Given the description of an element on the screen output the (x, y) to click on. 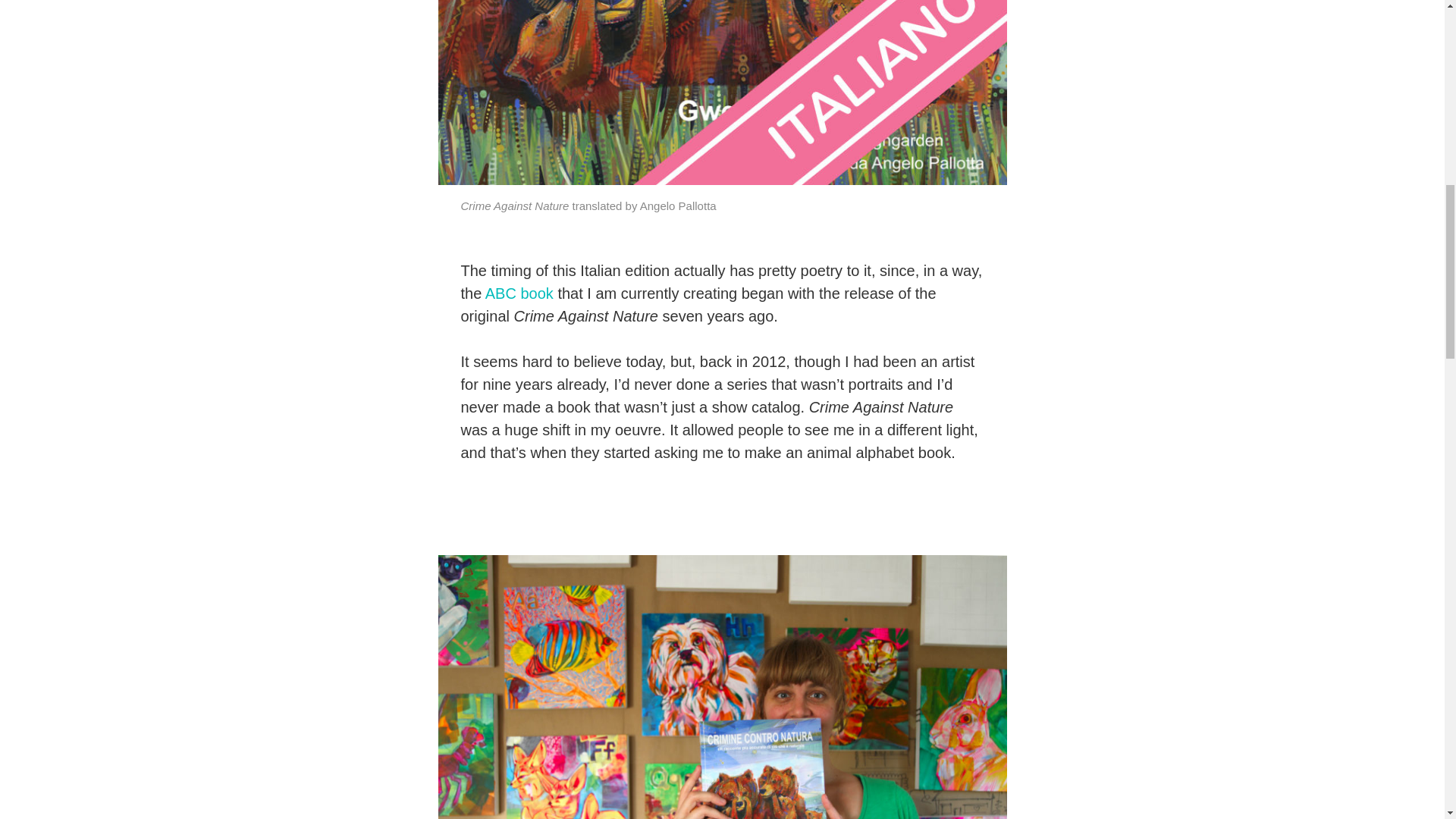
ABC book (518, 293)
